Given the description of an element on the screen output the (x, y) to click on. 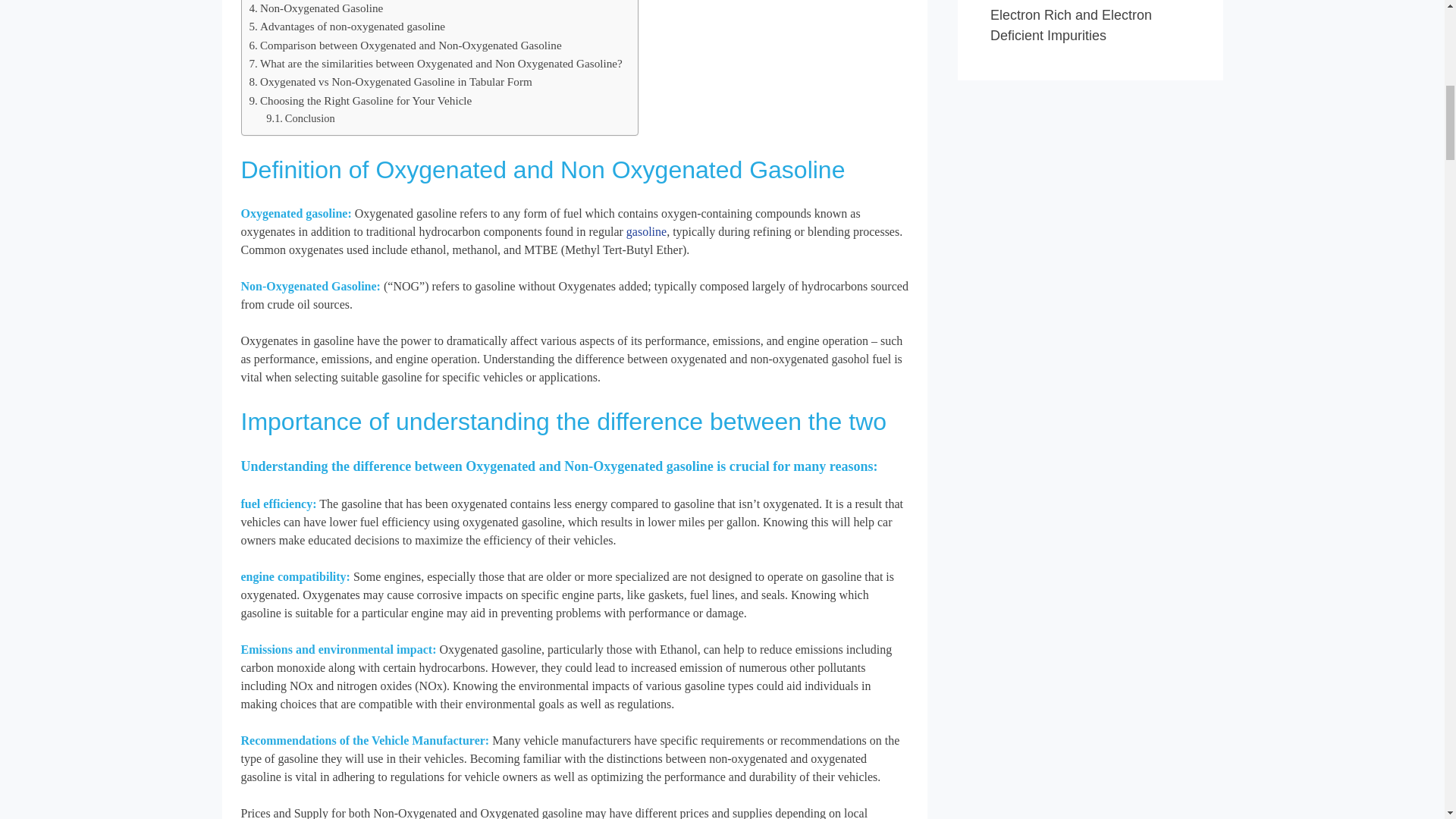
Conclusion (300, 118)
Oxygenated vs Non-Oxygenated Gasoline in Tabular Form (389, 81)
Non-Oxygenated Gasoline (315, 8)
Choosing the Right Gasoline for Your Vehicle (359, 100)
Non-Oxygenated Gasoline (315, 8)
Comparison between Oxygenated and Non-Oxygenated Gasoline (404, 45)
Choosing the Right Gasoline for Your Vehicle (359, 100)
gasoline (646, 231)
